Given the description of an element on the screen output the (x, y) to click on. 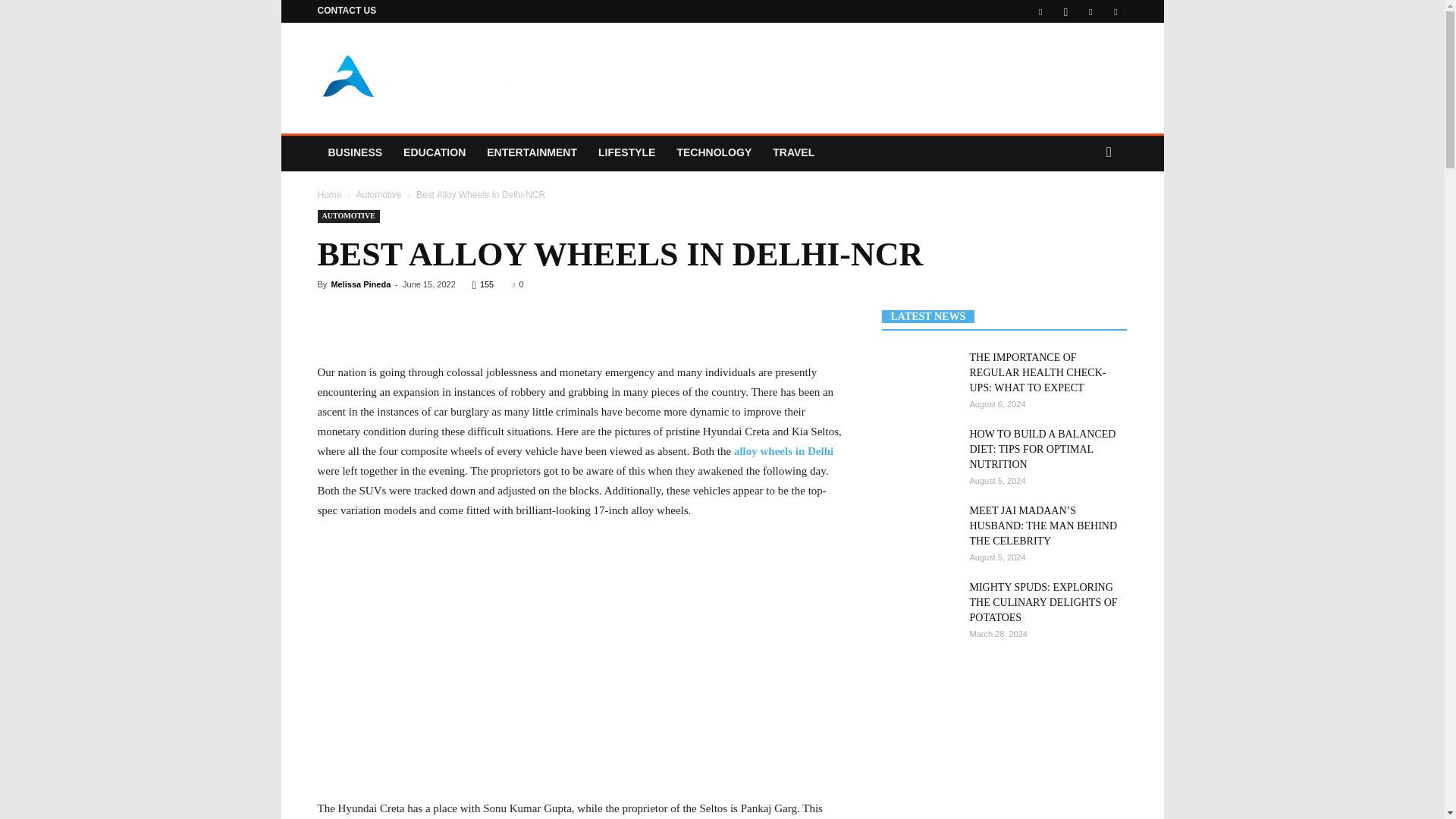
Youtube (1114, 11)
Facebook (1040, 11)
View all posts in Automotive (378, 194)
Instagram (1065, 11)
Pinterest (1090, 11)
